Given the description of an element on the screen output the (x, y) to click on. 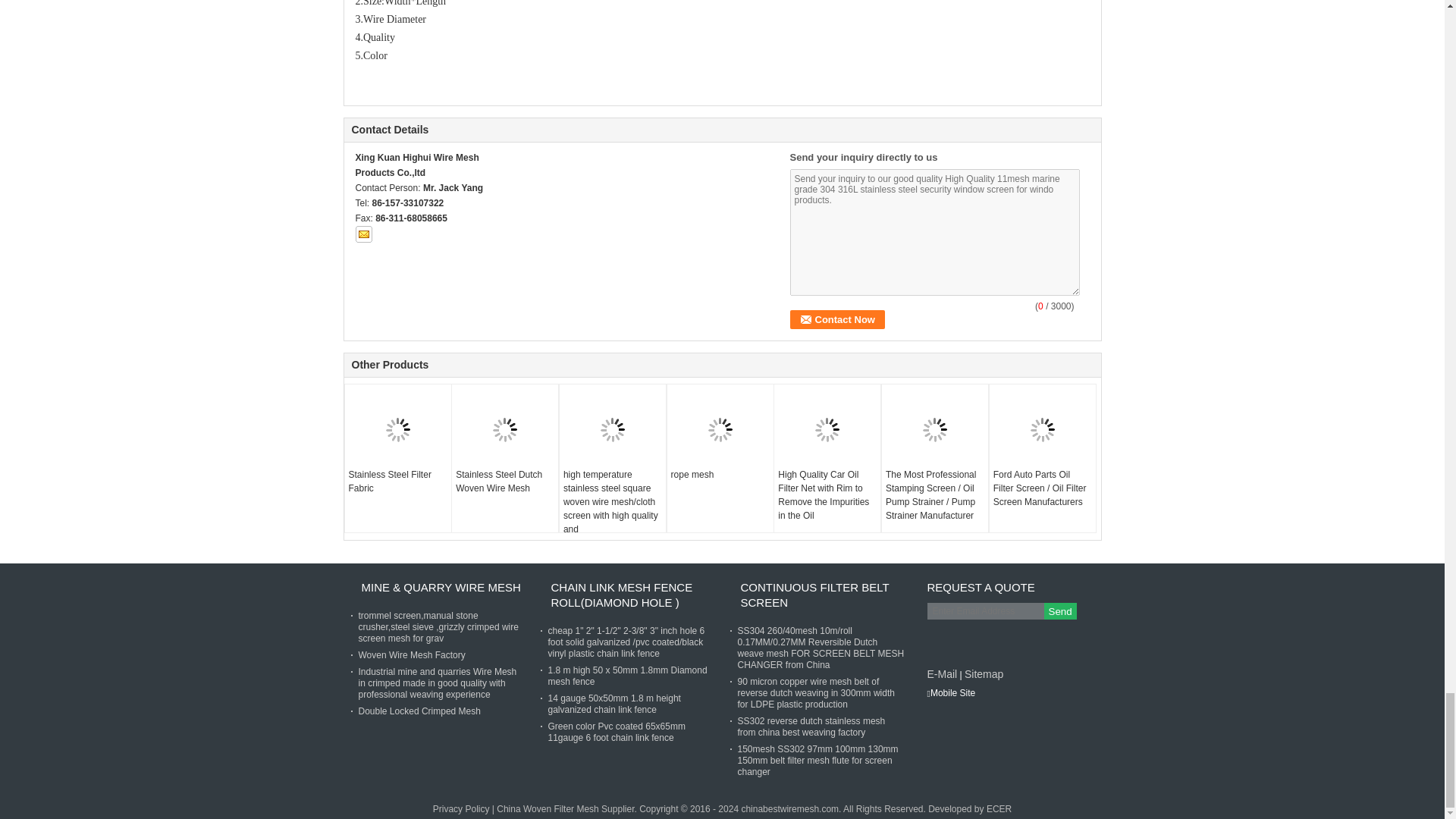
Contact Now (837, 319)
